Given the description of an element on the screen output the (x, y) to click on. 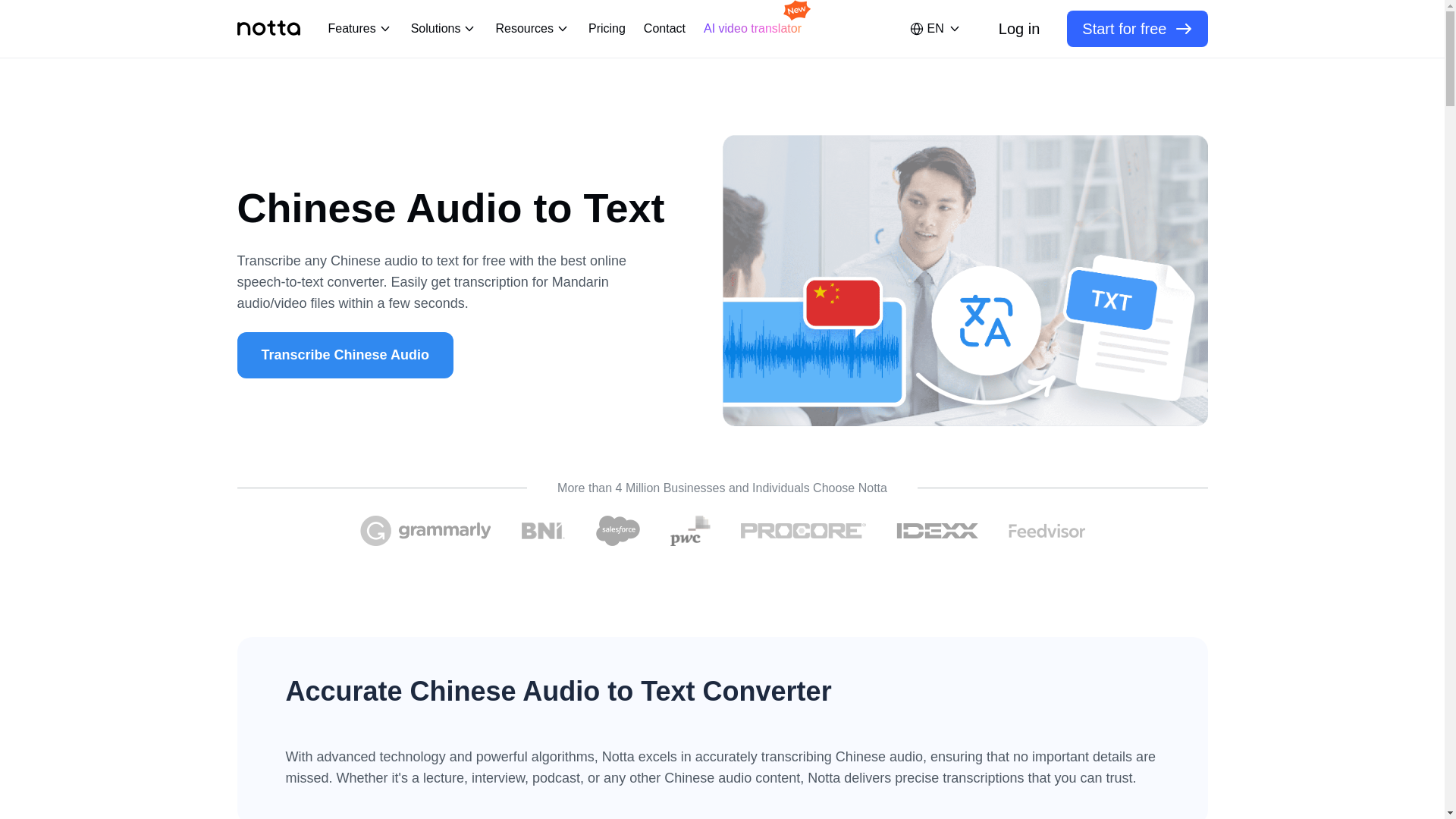
EN (935, 28)
AI video translator (752, 28)
Log in (1019, 28)
Start for free (1137, 28)
